Given the description of an element on the screen output the (x, y) to click on. 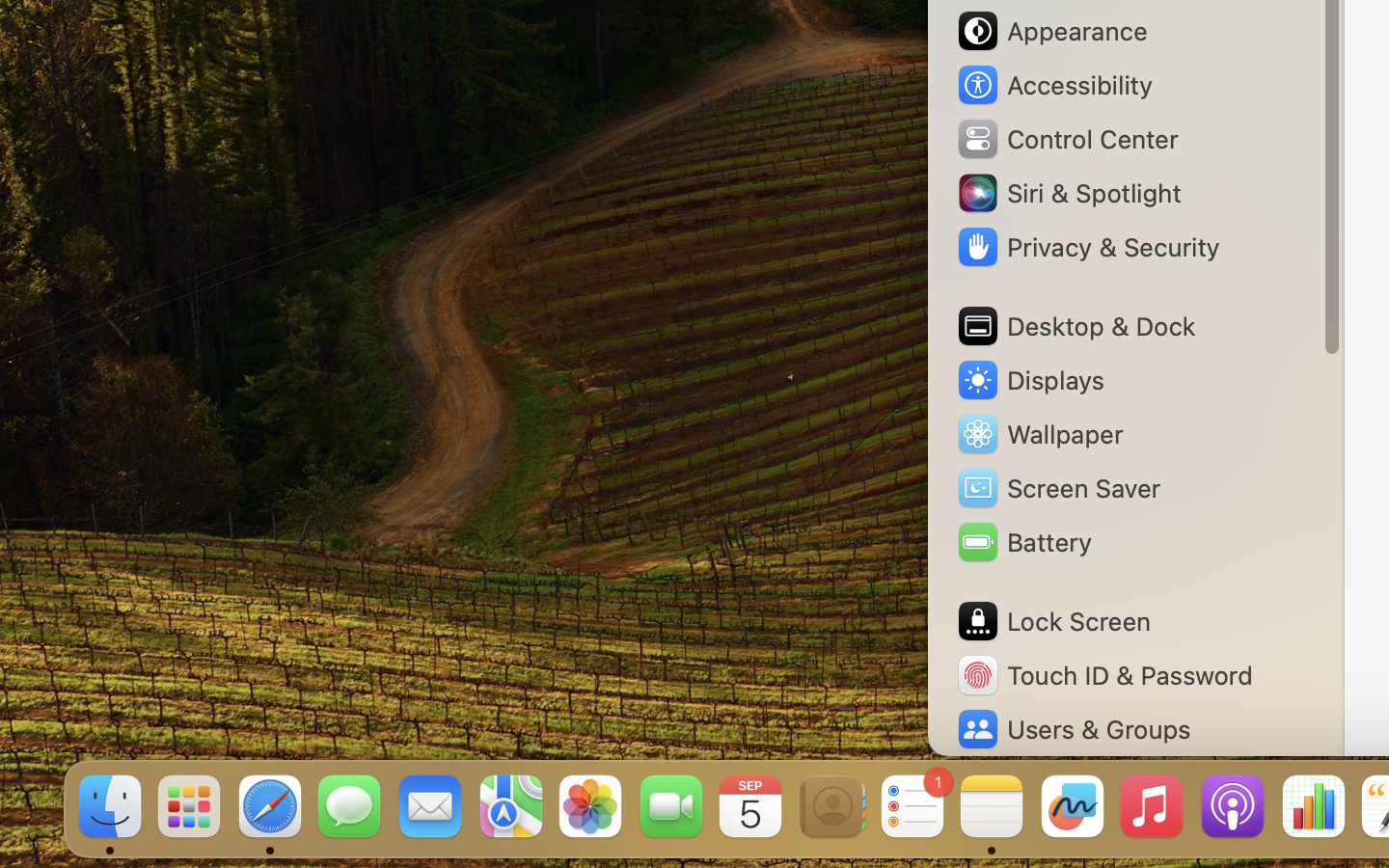
Touch ID & Password Element type: AXStaticText (1103, 674)
Displays Element type: AXStaticText (1029, 379)
Lock Screen Element type: AXStaticText (1052, 620)
